Given the description of an element on the screen output the (x, y) to click on. 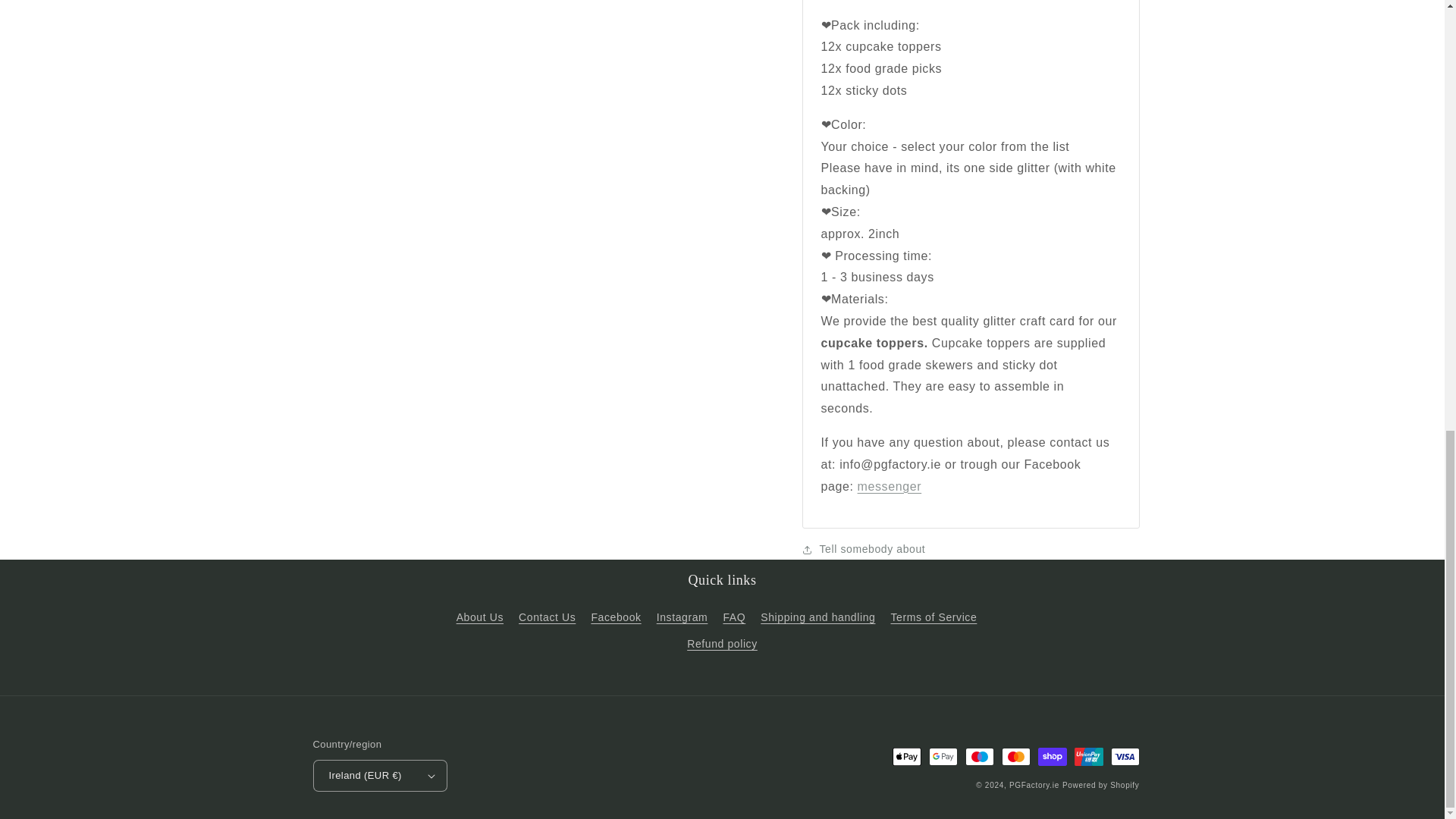
Facebook contact (889, 474)
